Given the description of an element on the screen output the (x, y) to click on. 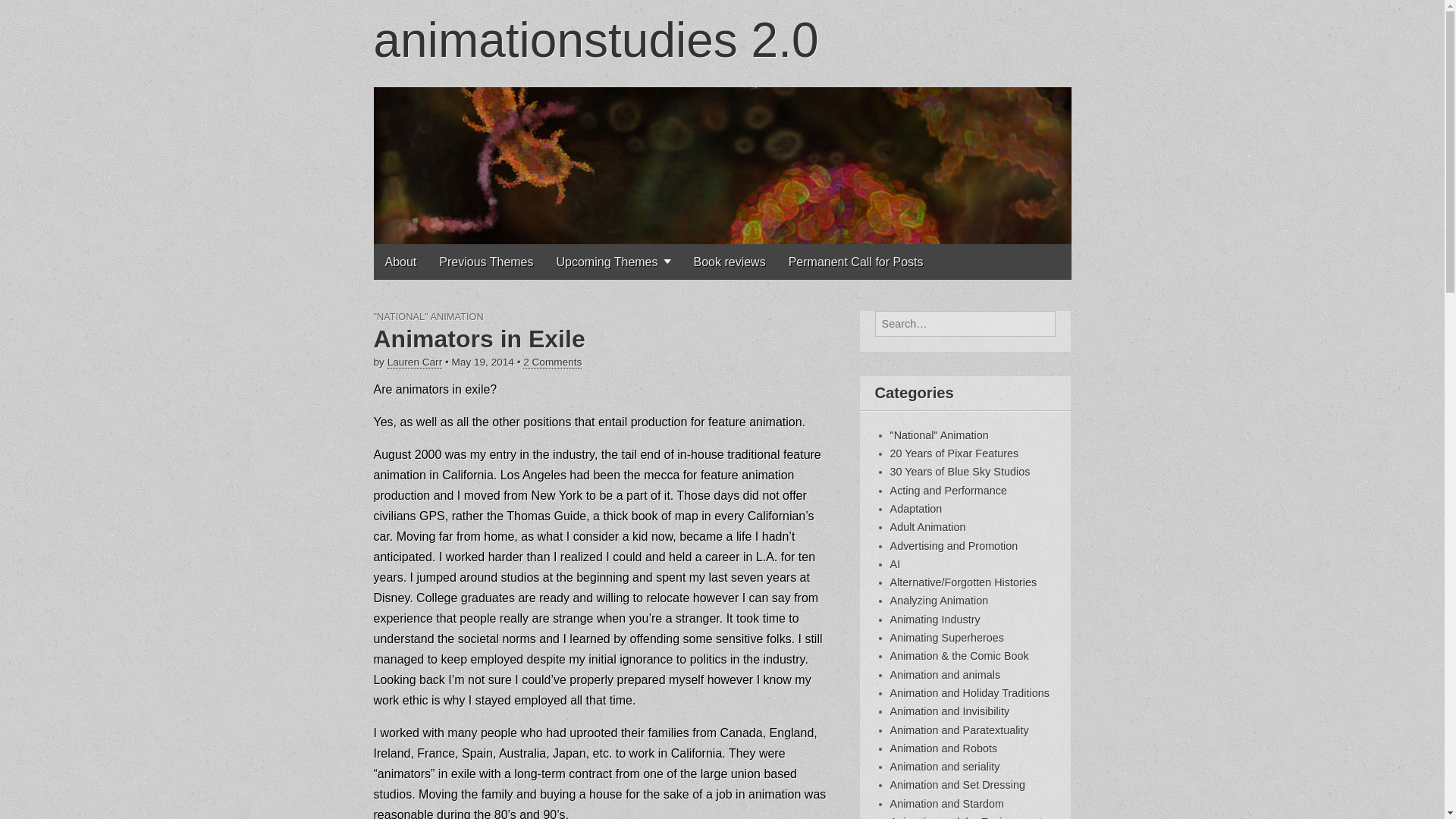
Analyzing Animation (938, 600)
Acting and Performance (948, 490)
Posts by Lauren Carr (414, 362)
Lauren Carr (414, 362)
30 Years of Blue Sky Studios (959, 471)
Animation and Paratextuality (959, 729)
Adult Animation (927, 526)
Animating Industry (934, 619)
Animating Superheroes (946, 637)
Animation and animals (945, 674)
animationstudies 2.0 (595, 40)
About (400, 262)
"National" Animation (938, 435)
Animation and Holiday Traditions (969, 693)
animationstudies 2.0 (595, 40)
